Given the description of an element on the screen output the (x, y) to click on. 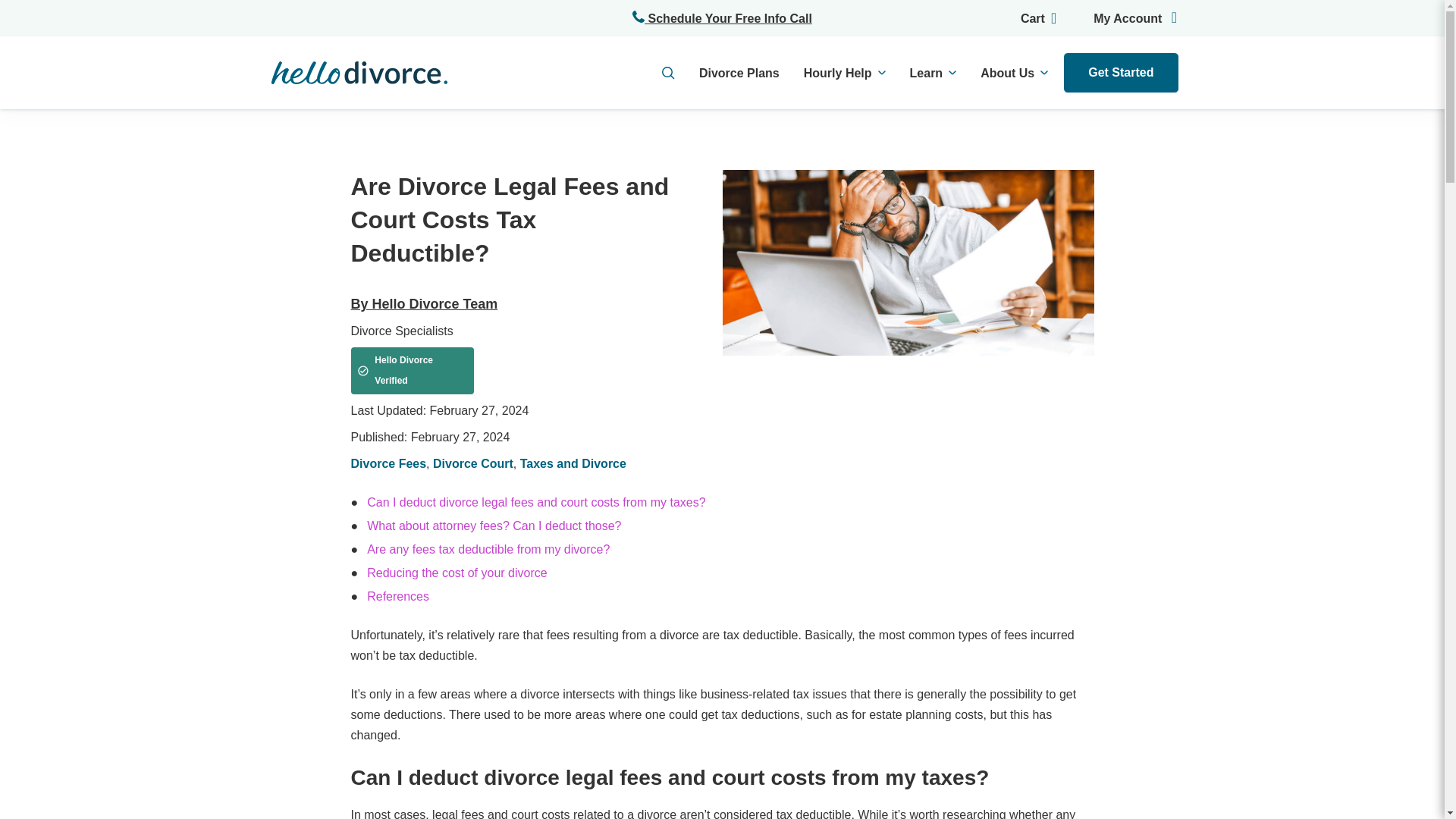
Cart (1026, 17)
My Account (1122, 17)
Divorce Plans (738, 72)
Get Started (1119, 72)
Schedule Your Free Info Call (721, 17)
